Given the description of an element on the screen output the (x, y) to click on. 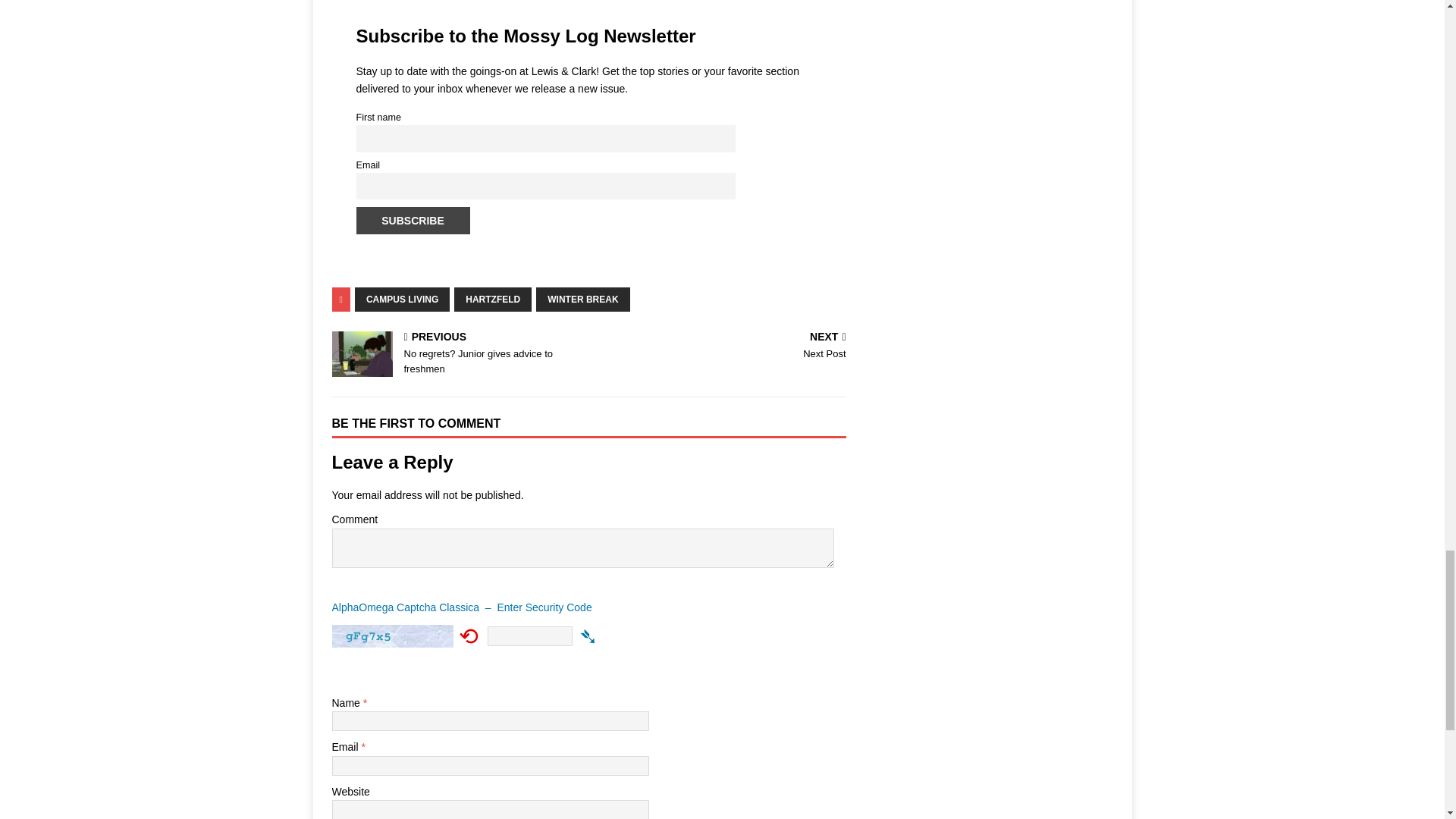
Subscribe (413, 220)
 Checkout the AlphaOmega Captcha Plugin at WordPress.org  (588, 610)
 Checkout the AlphaOmega Captcha Plugin at WordPress.org  (588, 635)
 Reload AlphaOmega Captcha  (468, 635)
